Given the description of an element on the screen output the (x, y) to click on. 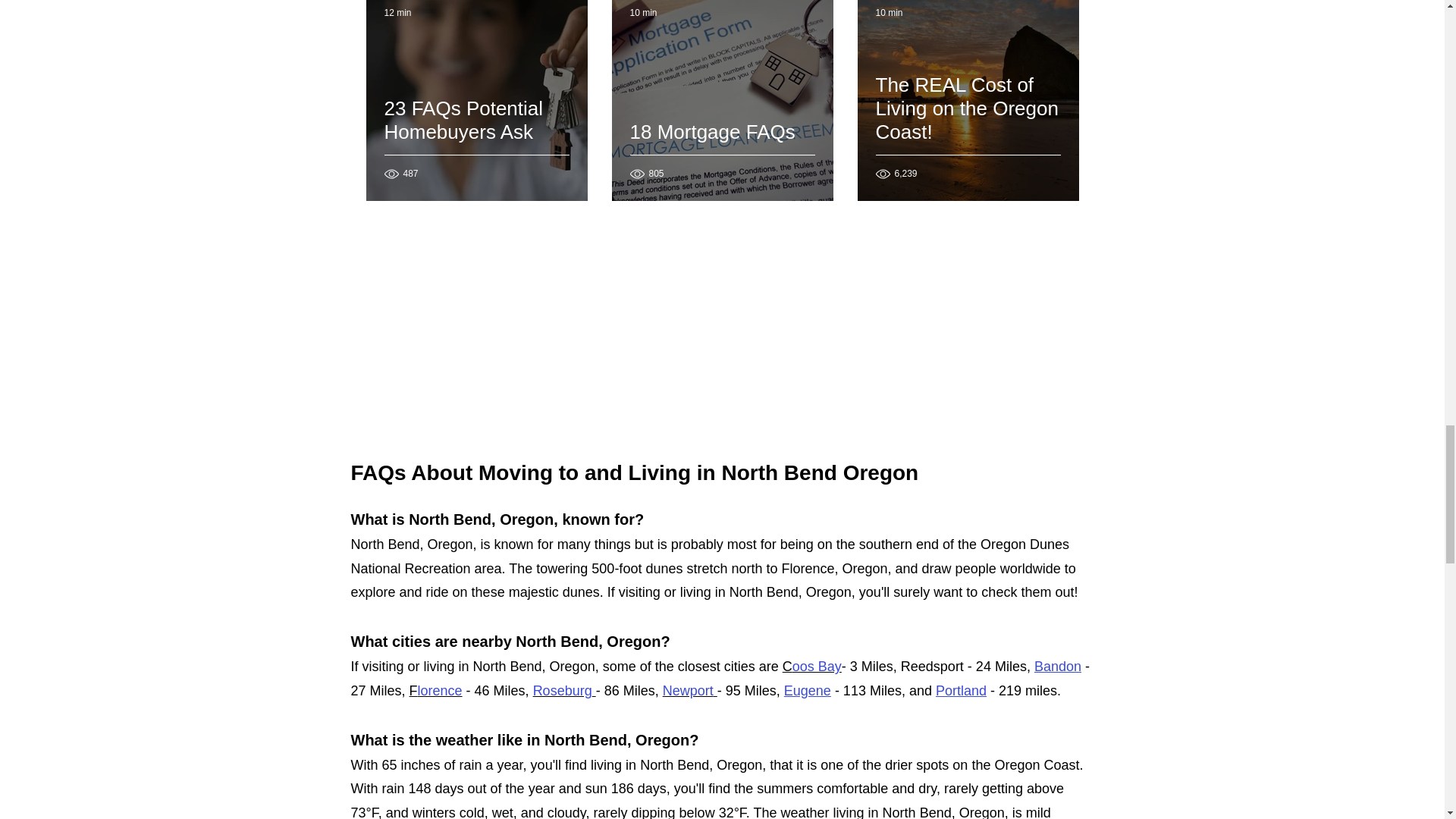
10 min (642, 12)
12 min (397, 12)
10 min (888, 12)
